Given the description of an element on the screen output the (x, y) to click on. 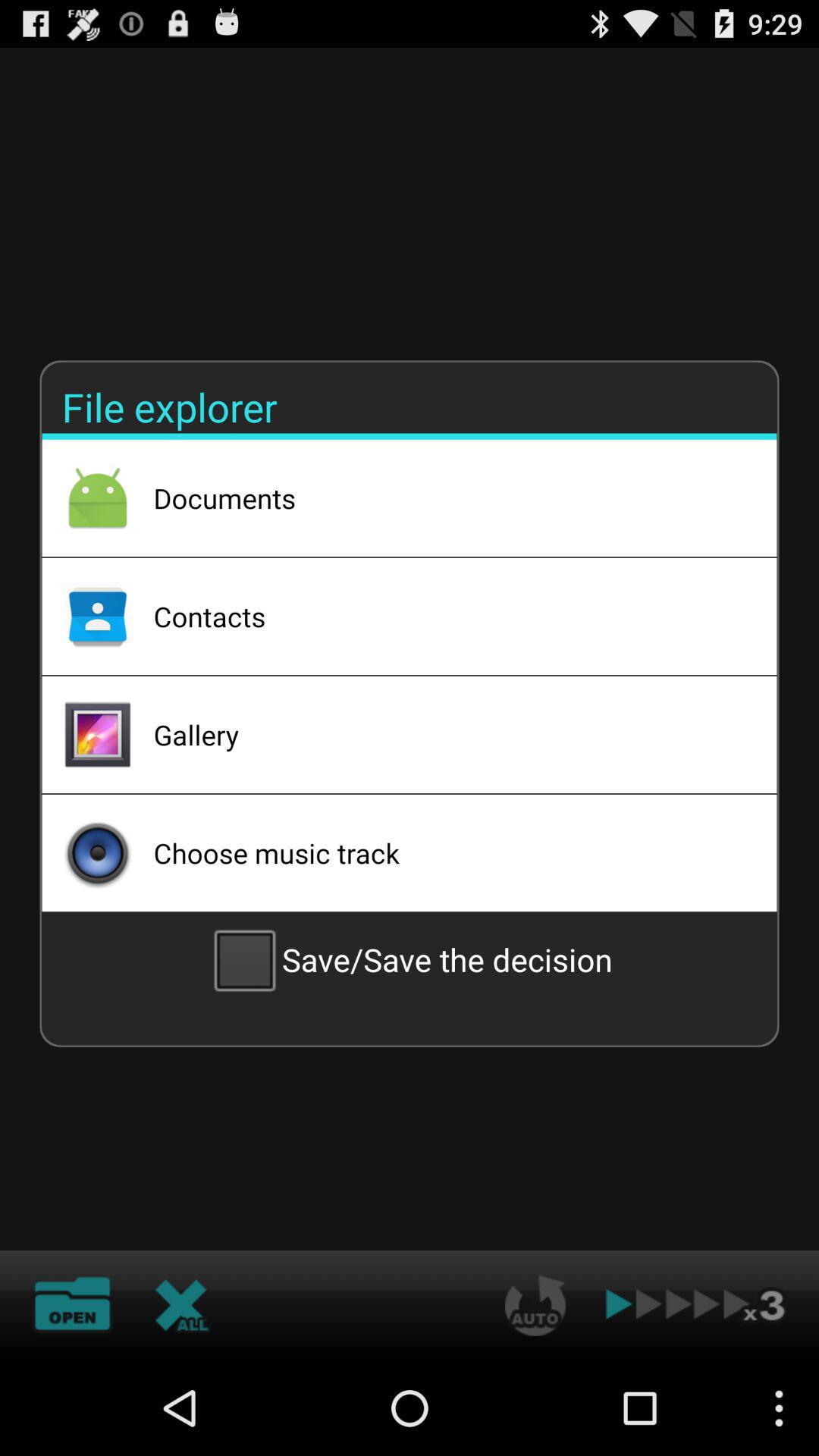
tap icon below the contacts item (445, 734)
